Given the description of an element on the screen output the (x, y) to click on. 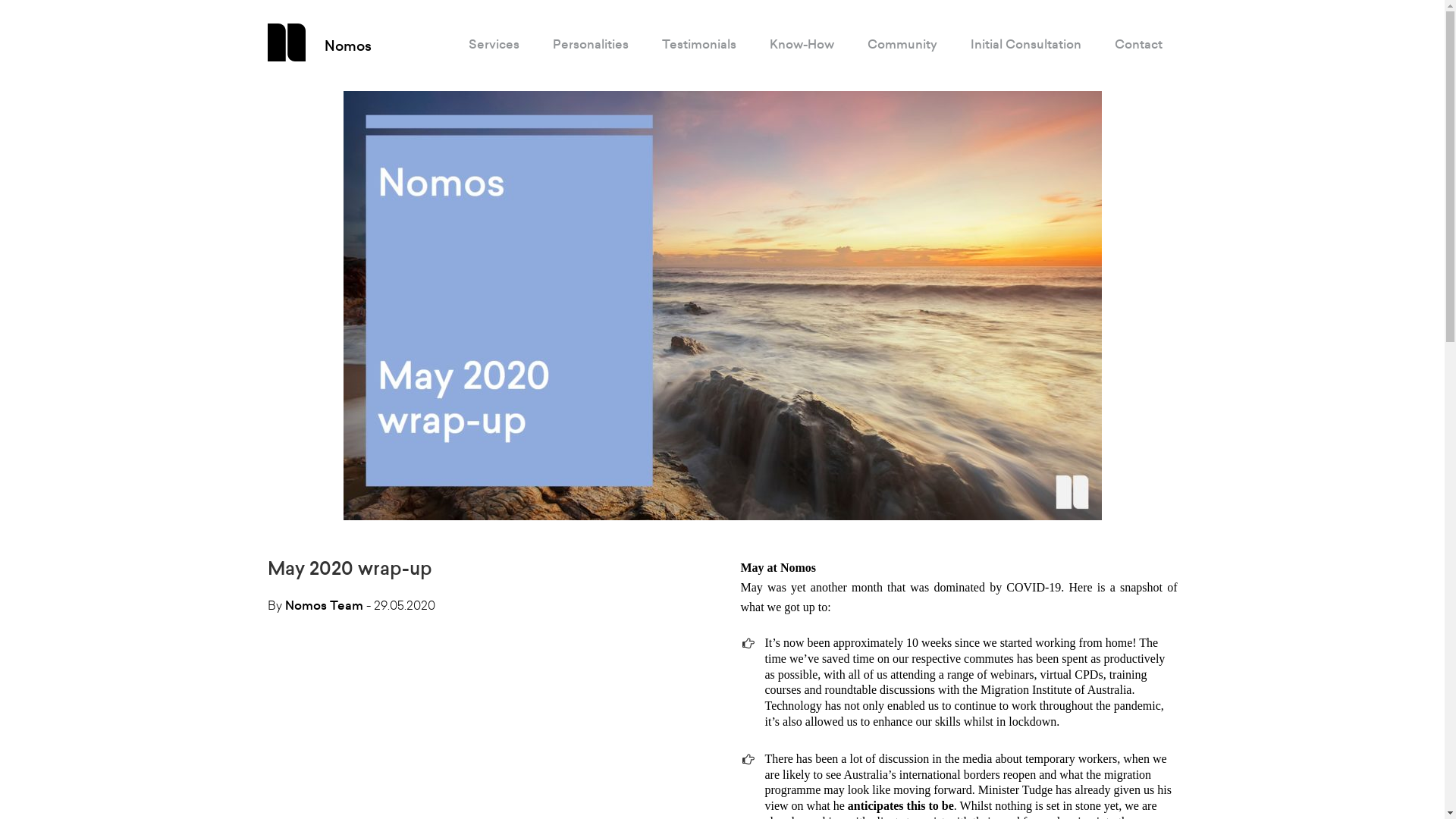
Contact Element type: text (1138, 44)
Nomos Element type: text (347, 45)
Initial Consultation Element type: text (1025, 44)
anticipates this to be Element type: text (900, 805)
Personalities Element type: text (589, 44)
Nomos Team Element type: text (324, 605)
Services Element type: text (493, 44)
Testimonials Element type: text (698, 44)
Community Element type: text (902, 44)
Know-How Element type: text (800, 44)
